Given the description of an element on the screen output the (x, y) to click on. 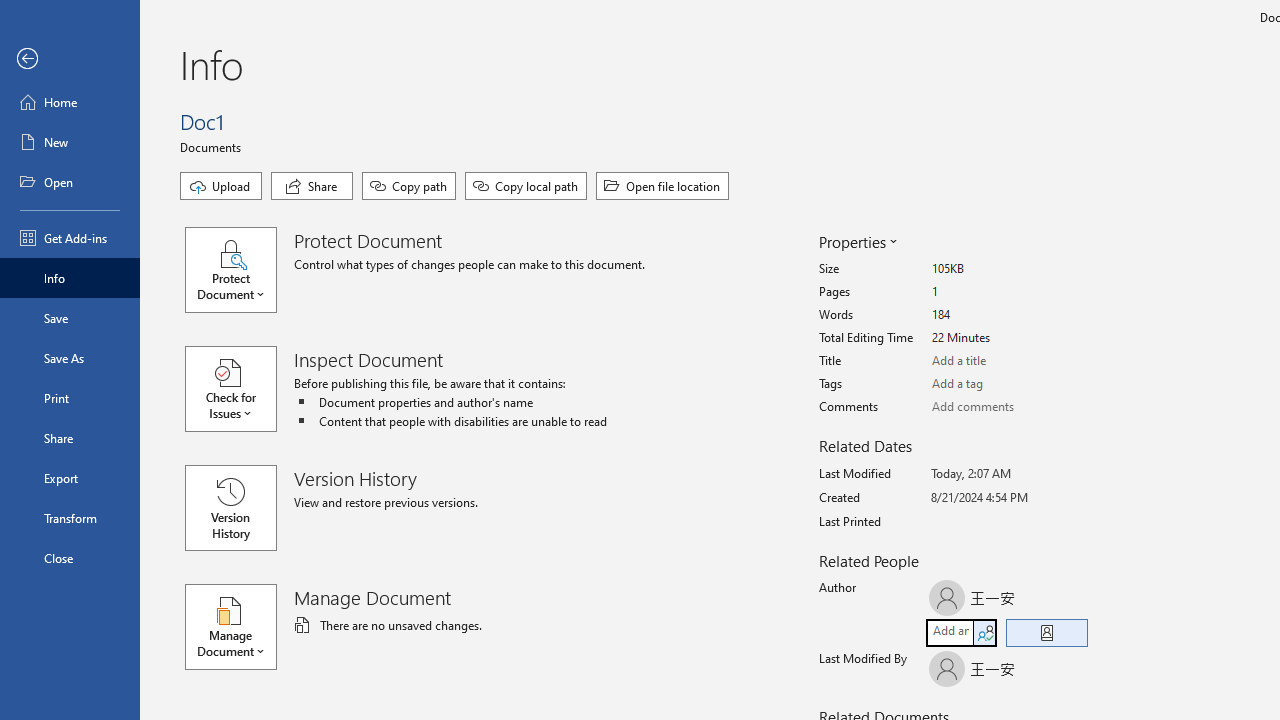
Words (1006, 315)
Protect Document (239, 269)
Print (69, 398)
Version History (230, 507)
Browse Address Book (1047, 633)
Info (69, 277)
Upload (221, 186)
Tags (1006, 384)
Copy path (408, 186)
Back (69, 59)
Copy local path (525, 186)
Verify Names (983, 632)
